Given the description of an element on the screen output the (x, y) to click on. 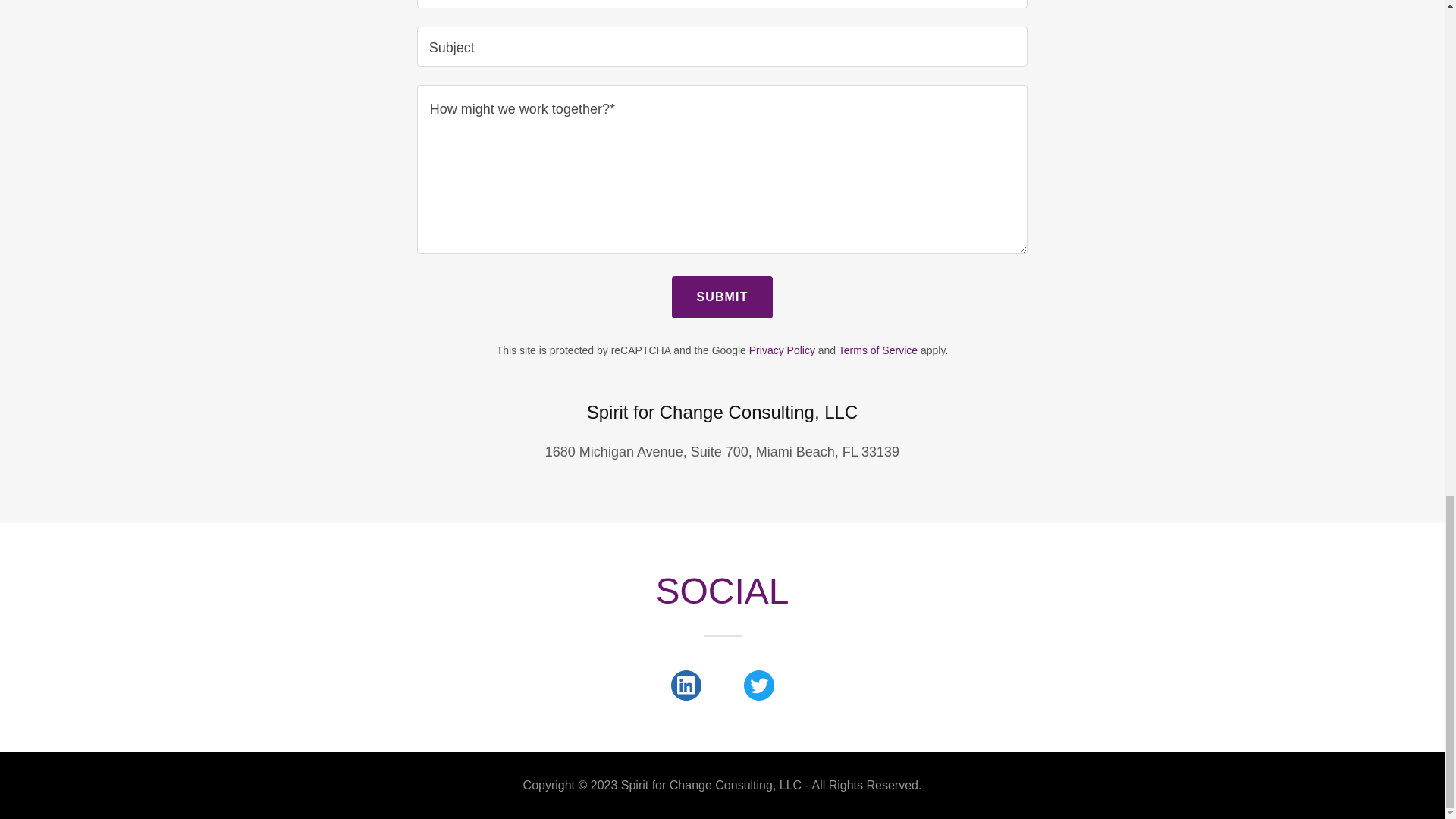
SUBMIT (721, 297)
Terms of Service (877, 349)
Privacy Policy (782, 349)
